Given the description of an element on the screen output the (x, y) to click on. 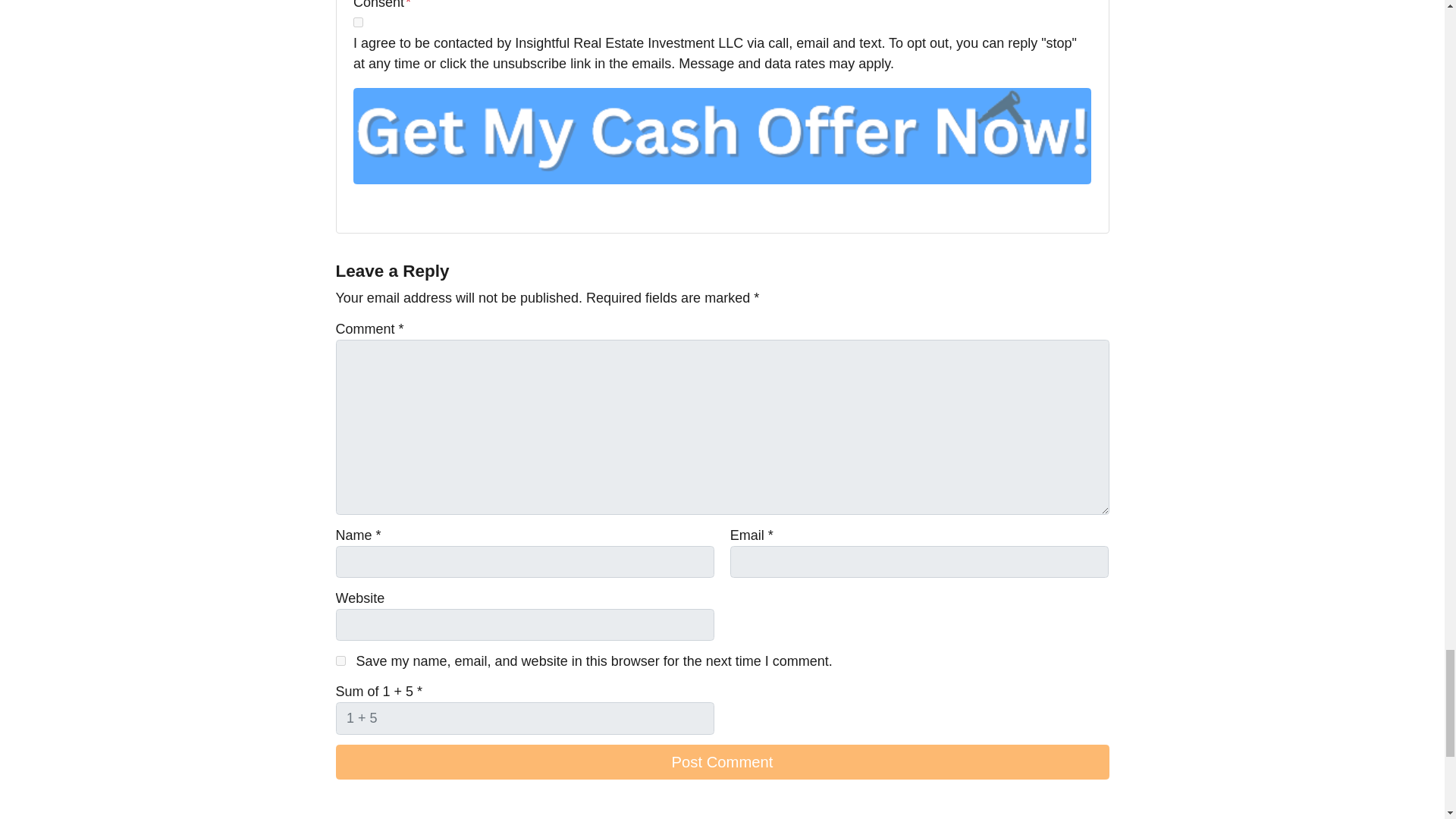
Facebook (383, 207)
Instagram (447, 207)
Post Comment (721, 761)
YouTube (404, 207)
1 (357, 22)
Post Comment (721, 761)
yes (339, 660)
Houzz (468, 207)
Twitter (362, 207)
LinkedIn (425, 207)
